Given the description of an element on the screen output the (x, y) to click on. 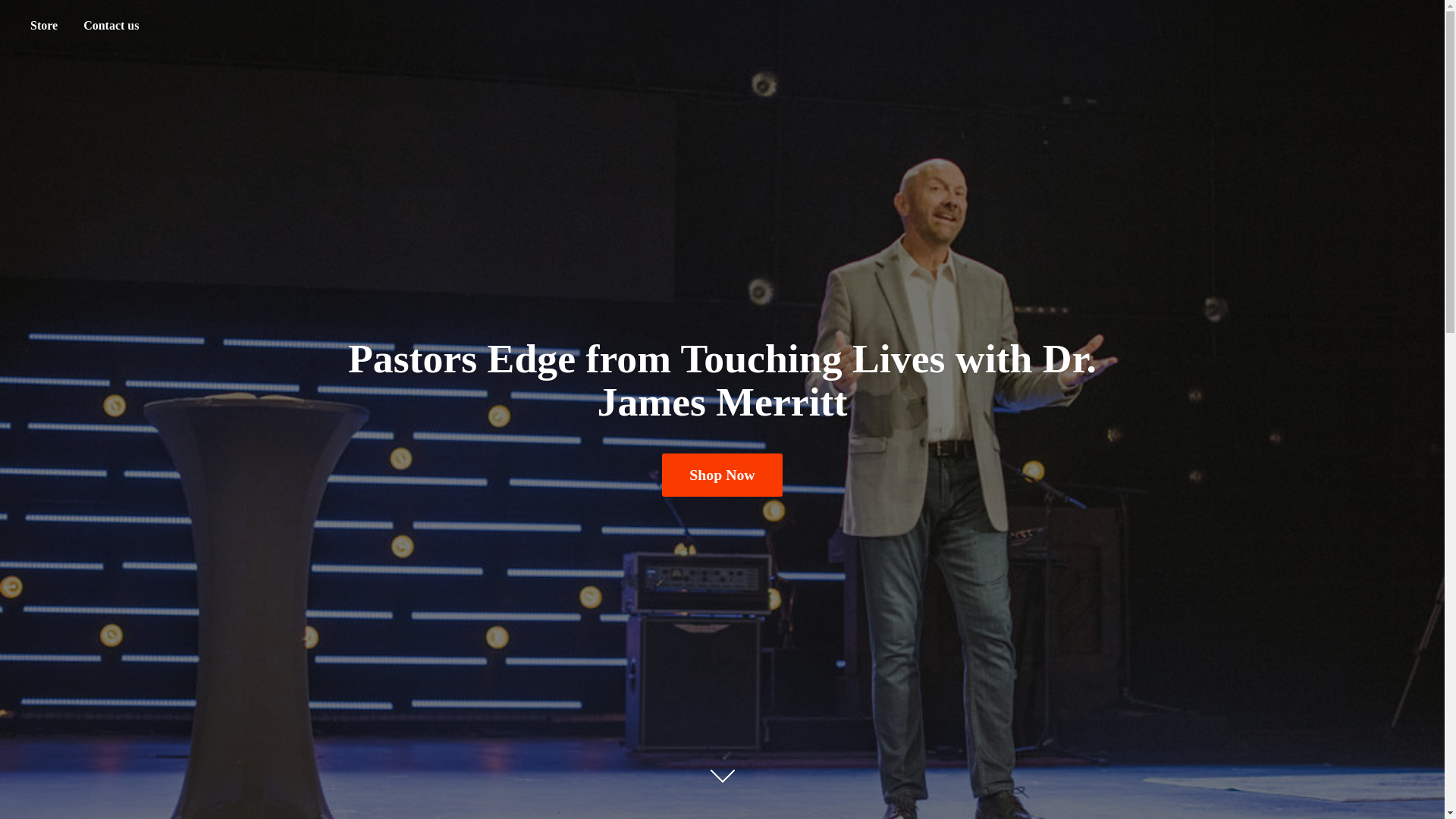
Store (43, 25)
Shop Now (722, 474)
Contact us (110, 25)
